Given the description of an element on the screen output the (x, y) to click on. 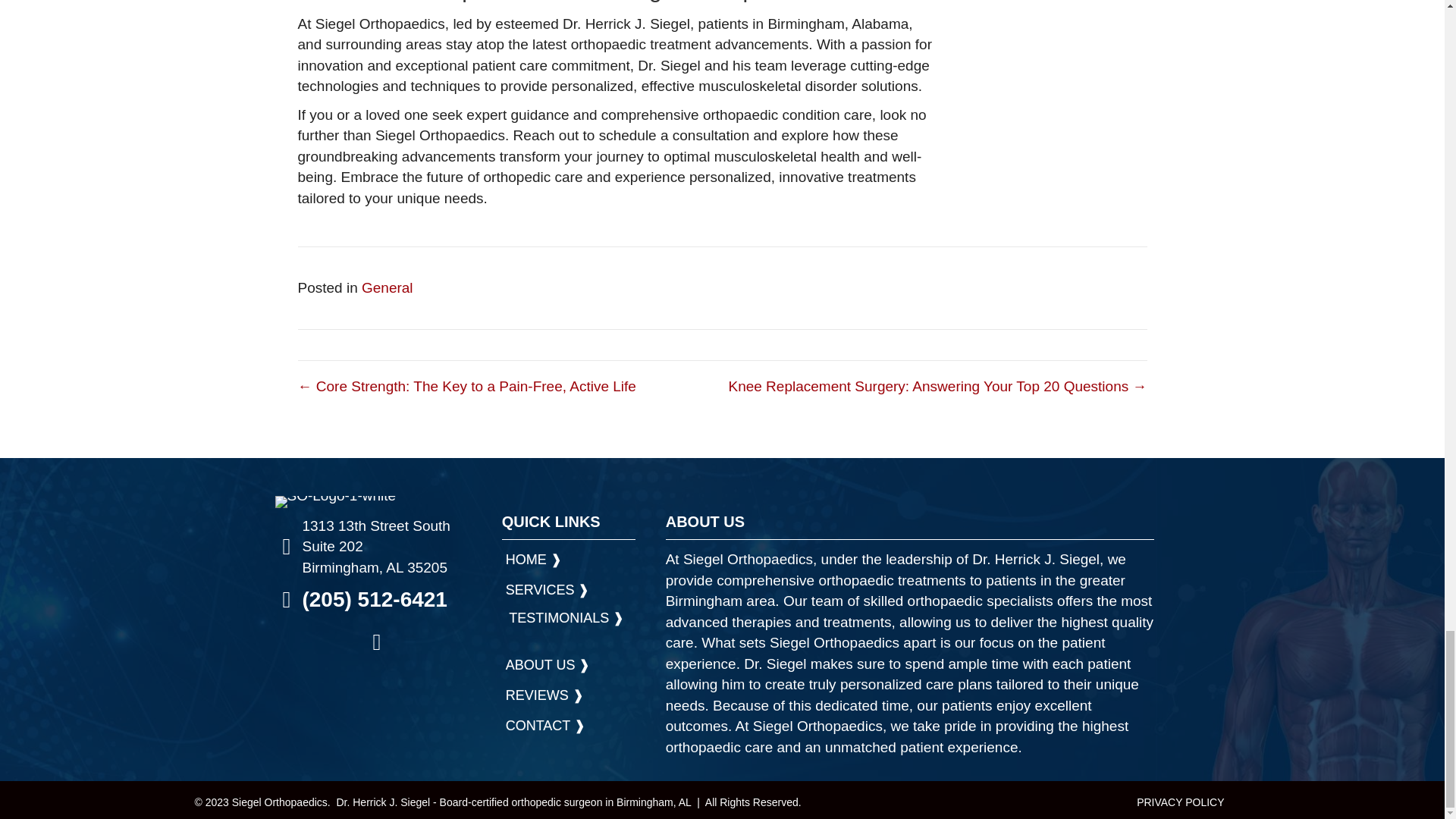
SO-Logo-1-white (335, 501)
